Given the description of an element on the screen output the (x, y) to click on. 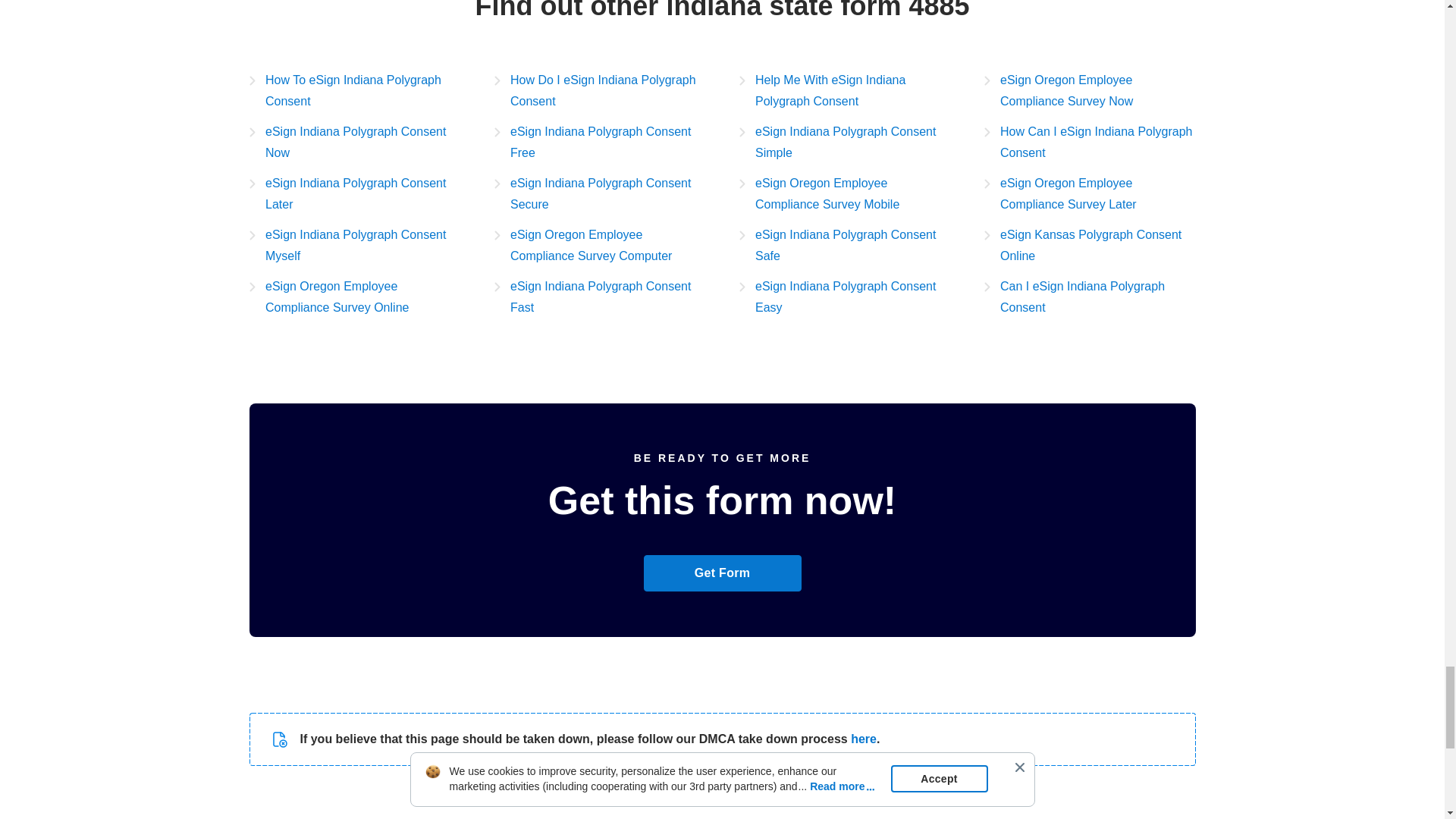
How Do I eSign Indiana Polygraph Consent (600, 90)
eSign Indiana Polygraph Consent Now (354, 142)
eSign Indiana Polygraph Consent Myself (354, 245)
eSign Indiana Polygraph Consent Free (600, 142)
eSign Indiana Polygraph Consent Secure (600, 193)
eSign Oregon Employee Compliance Survey Online (354, 297)
eSign Indiana Polygraph Consent Later (354, 193)
eSign Oregon Employee Compliance Survey Computer (600, 245)
How To eSign Indiana Polygraph Consent (354, 90)
